Given the description of an element on the screen output the (x, y) to click on. 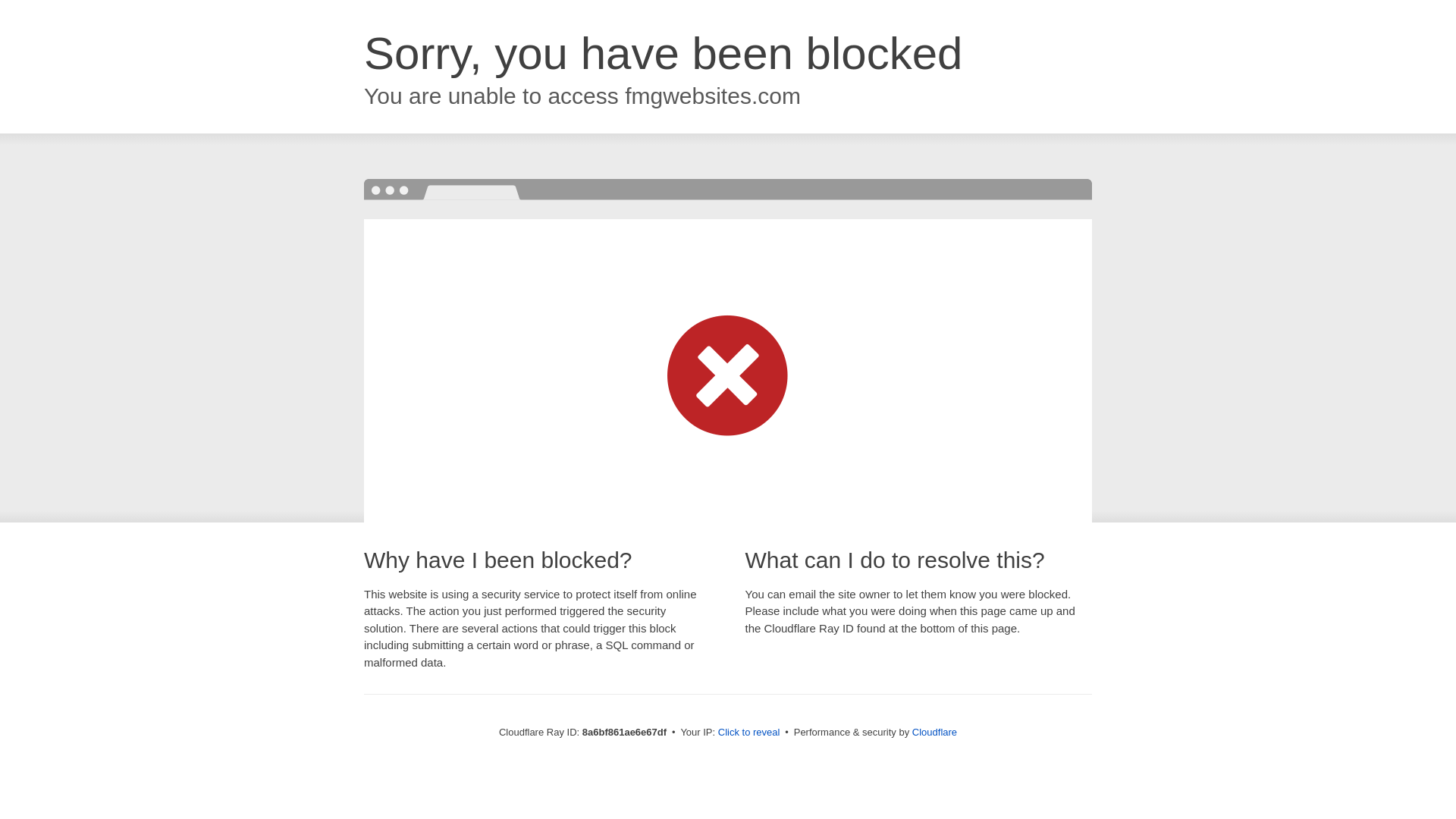
Click to reveal (748, 732)
Cloudflare (934, 731)
